Given the description of an element on the screen output the (x, y) to click on. 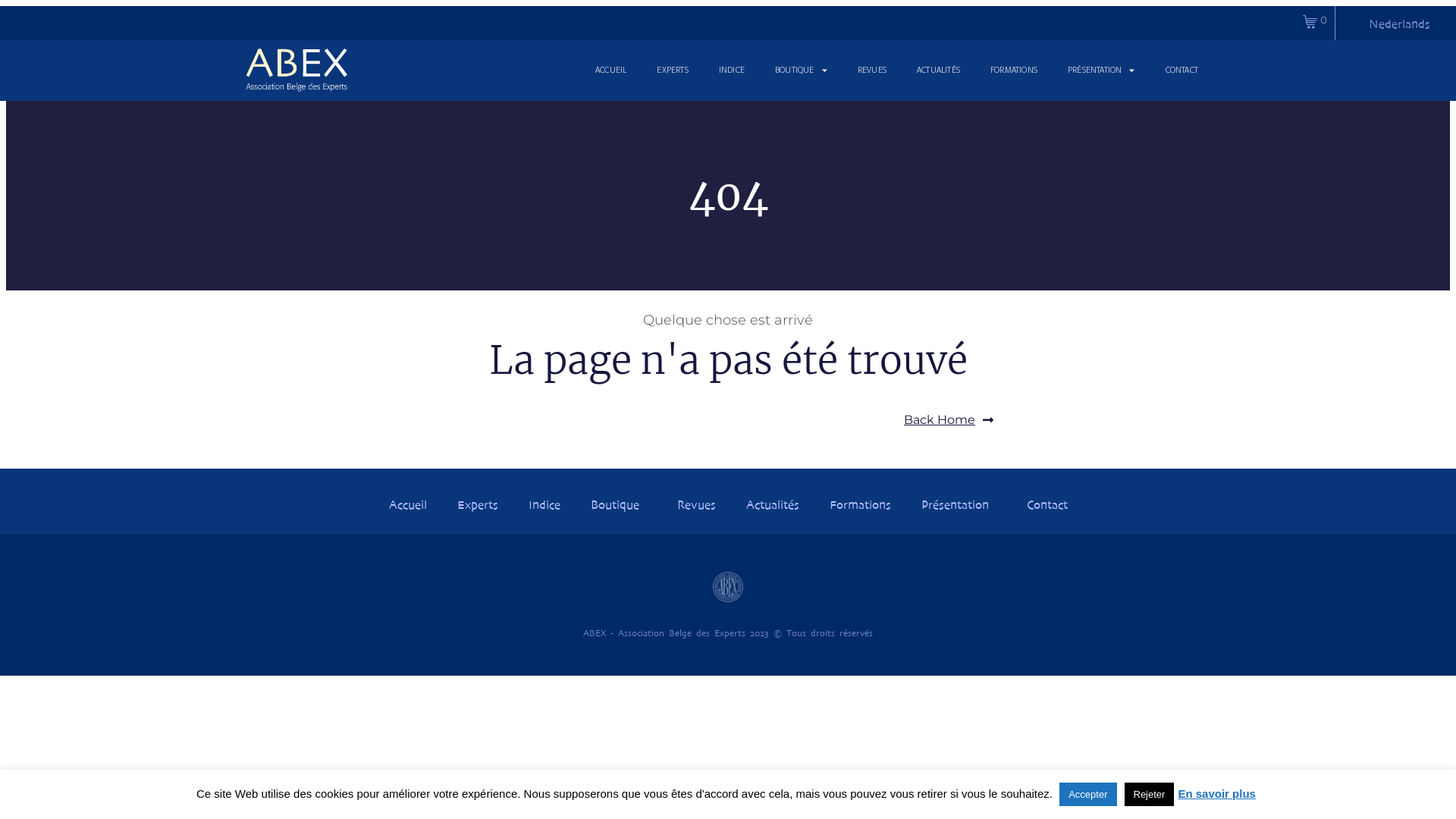
Revues Element type: text (695, 503)
REVUES Element type: text (871, 69)
Indice Element type: text (543, 503)
Formations Element type: text (860, 503)
INDICE Element type: text (731, 69)
0 Element type: text (1314, 21)
ACCUEIL Element type: text (610, 69)
Boutique Element type: text (617, 503)
Back Home Element type: text (948, 419)
FORMATIONS Element type: text (1013, 69)
Accueil Element type: text (407, 503)
Rejeter Element type: text (1148, 794)
Experts Element type: text (476, 503)
BOUTIQUE Element type: text (800, 69)
En savoir plus Element type: text (1216, 793)
Accepter Element type: text (1087, 794)
Contact Element type: text (1046, 503)
EXPERTS Element type: text (671, 69)
CONTACT Element type: text (1181, 69)
